Given the description of an element on the screen output the (x, y) to click on. 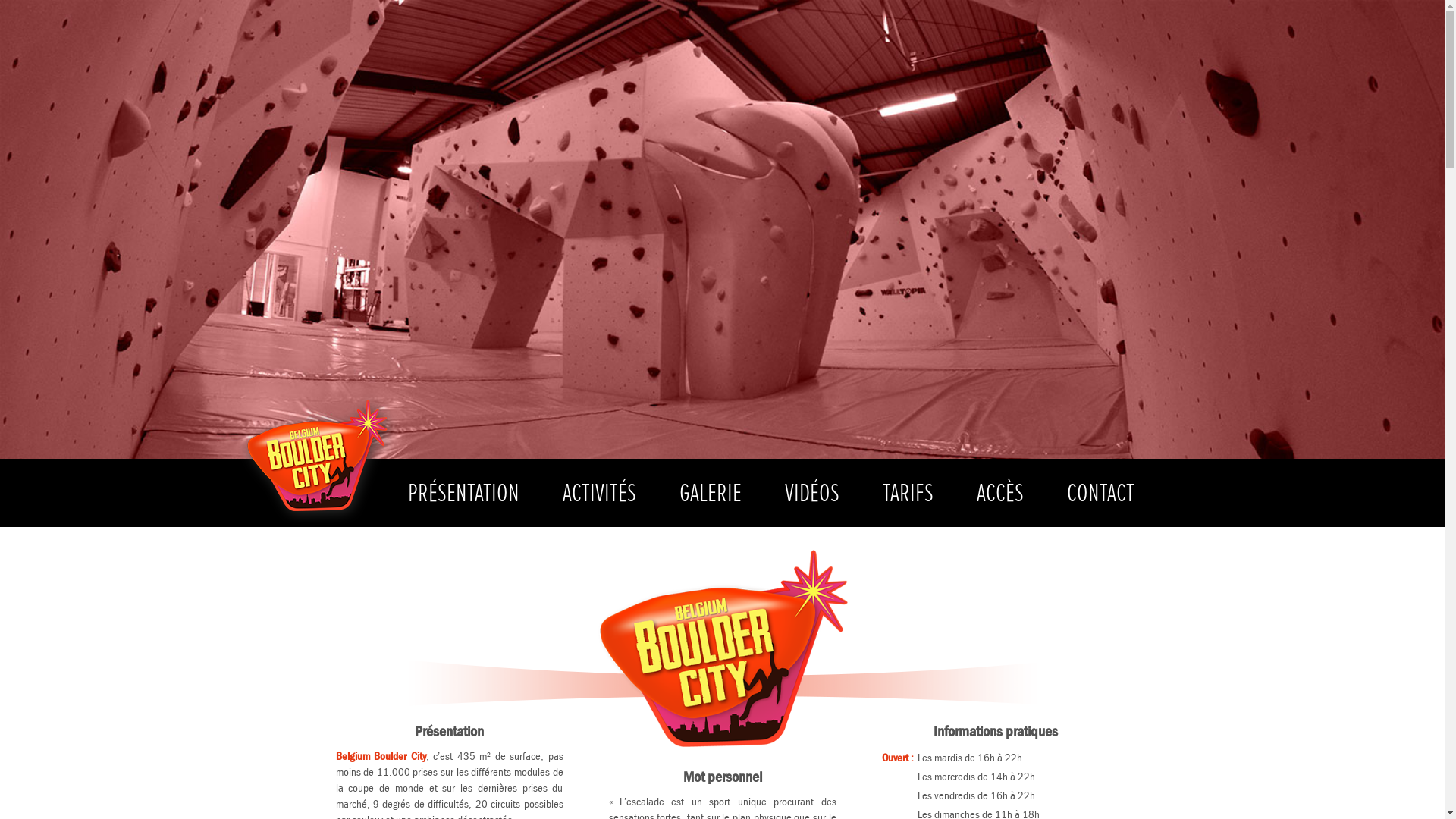
TARIFS Element type: text (907, 492)
GALERIE Element type: text (709, 492)
CONTACT Element type: text (1100, 492)
